Given the description of an element on the screen output the (x, y) to click on. 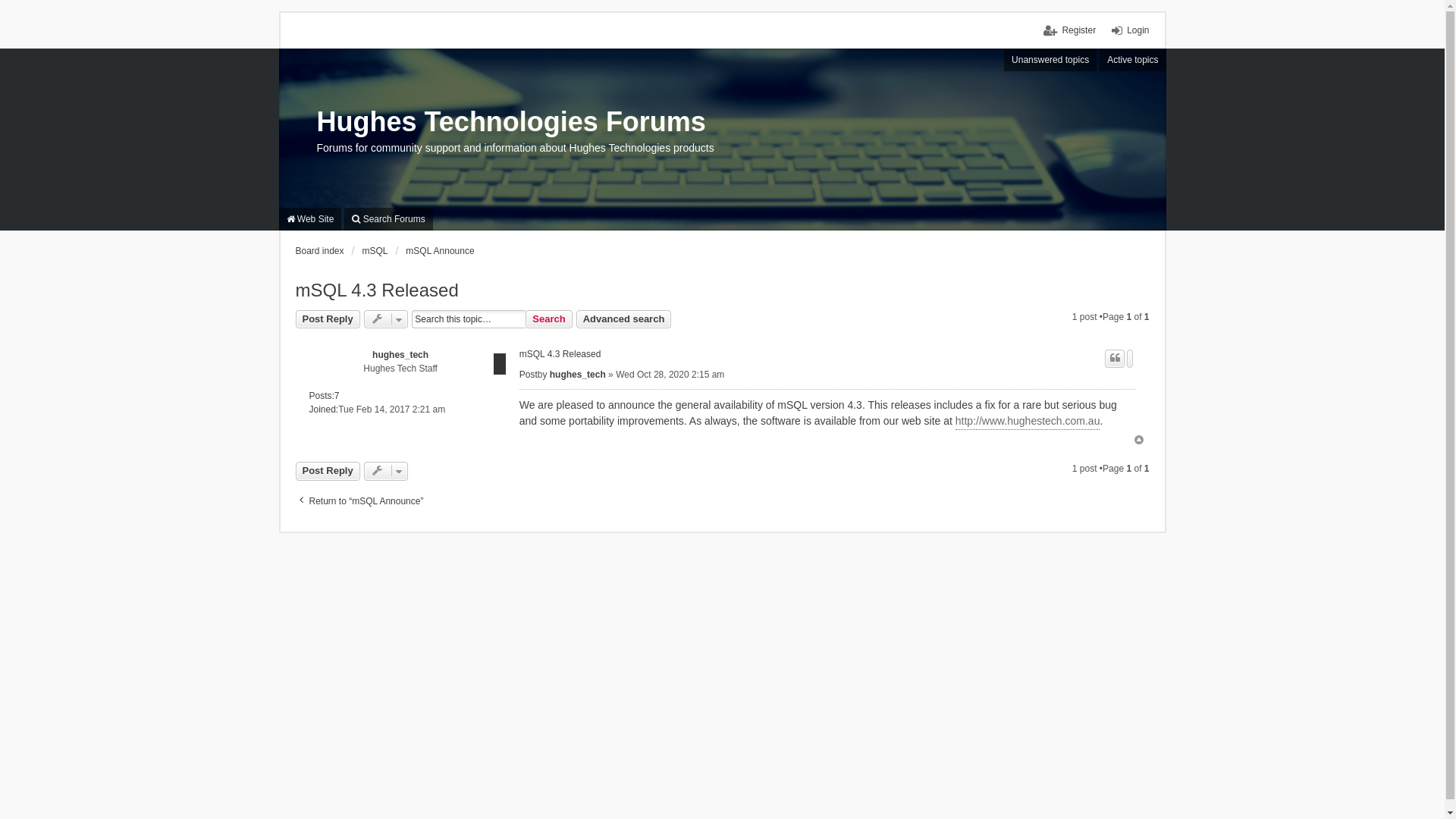
Topic tools Element type: hover (386, 319)
Post Element type: text (528, 374)
mSQL Announce Element type: text (439, 250)
hughes_tech Element type: text (400, 354)
Web Site Element type: text (310, 218)
Register Element type: text (1069, 30)
http://www.hughestech.com.au Element type: text (1027, 421)
Post Reply Element type: text (327, 470)
Advanced search Element type: text (623, 319)
Topic tools Element type: hover (386, 470)
hughes_tech Element type: text (577, 374)
Login Element type: text (1129, 30)
Active topics Element type: text (1132, 59)
mSQL Element type: text (374, 250)
Search Element type: text (548, 319)
Board index Element type: text (319, 250)
Search Forums Element type: text (388, 218)
Unanswered topics Element type: text (1050, 59)
Post Reply Element type: text (327, 319)
Hughes Technologies Forums Element type: text (511, 122)
mSQL 4.3 Released Element type: text (560, 354)
Top Element type: hover (1138, 439)
Quote Element type: text (1114, 358)
mSQL 4.3 Released Element type: text (376, 290)
7 Element type: text (336, 395)
Quote Element type: text (1129, 358)
